Given the description of an element on the screen output the (x, y) to click on. 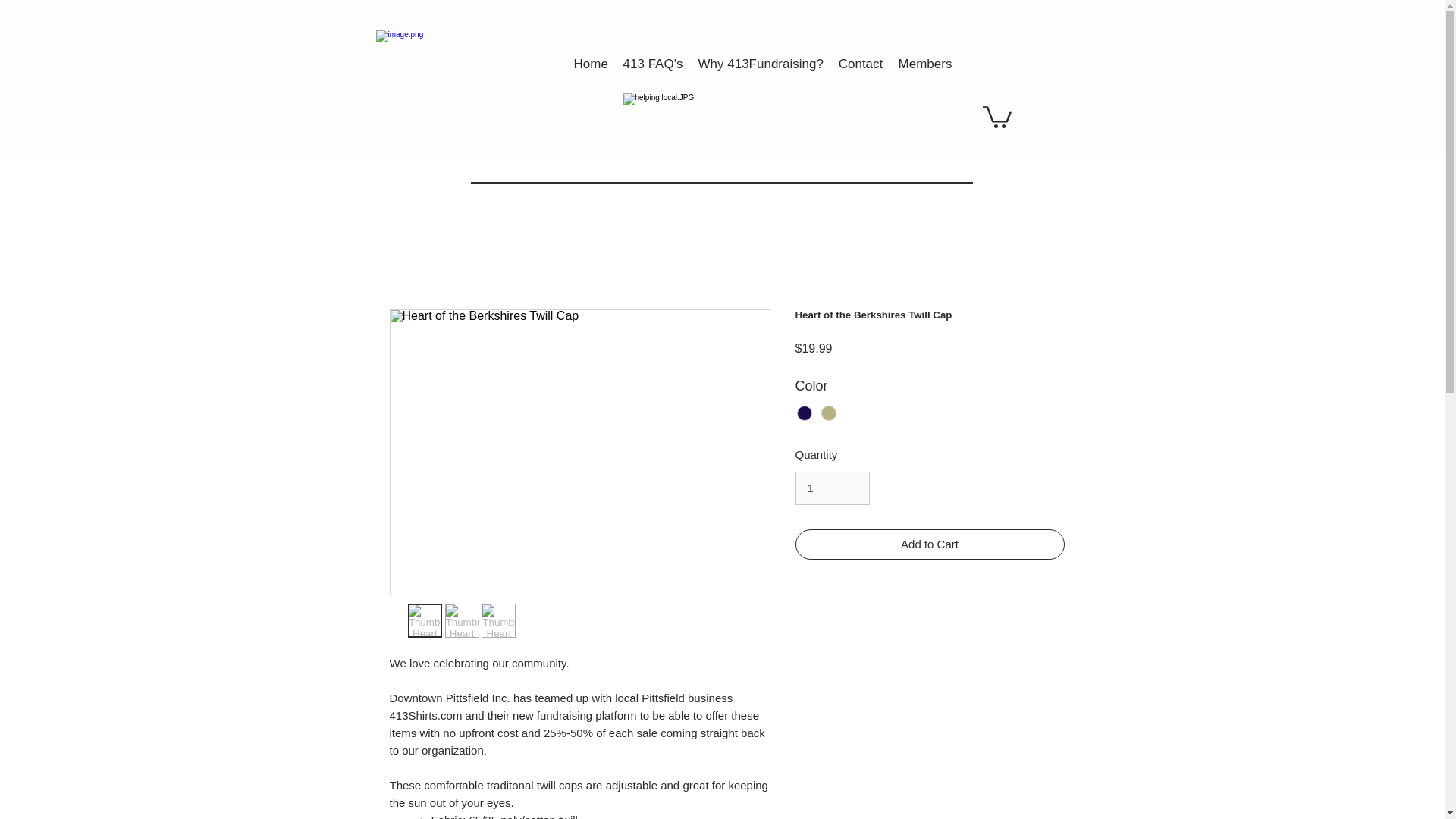
Contact (861, 64)
Members (924, 64)
413 FAQ's (652, 64)
Add to Cart (929, 544)
1 (831, 488)
Why 413Fundraising? (759, 64)
